Given the description of an element on the screen output the (x, y) to click on. 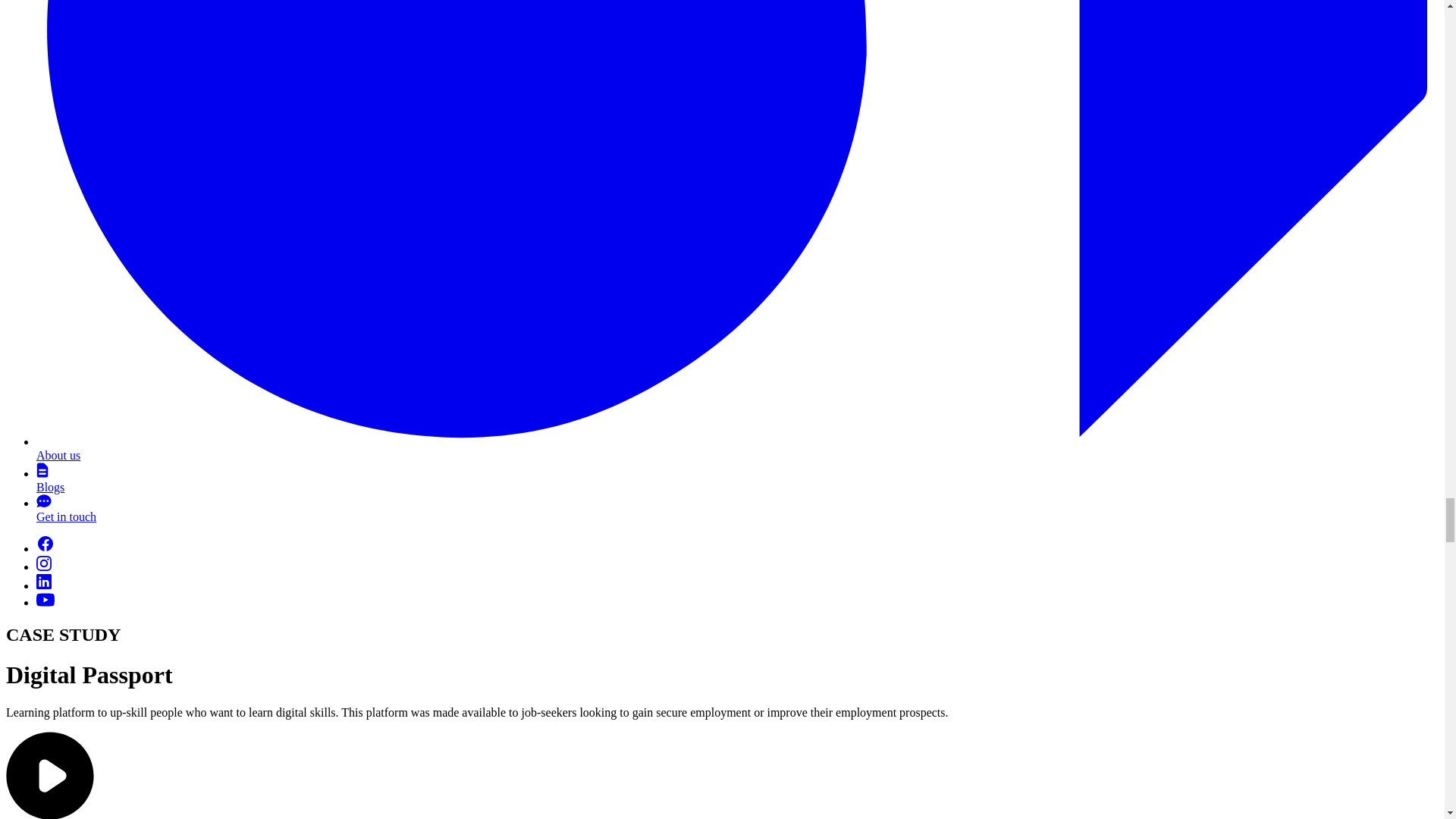
Linkedin (43, 581)
Facebook (45, 544)
Instagram (43, 563)
